Given the description of an element on the screen output the (x, y) to click on. 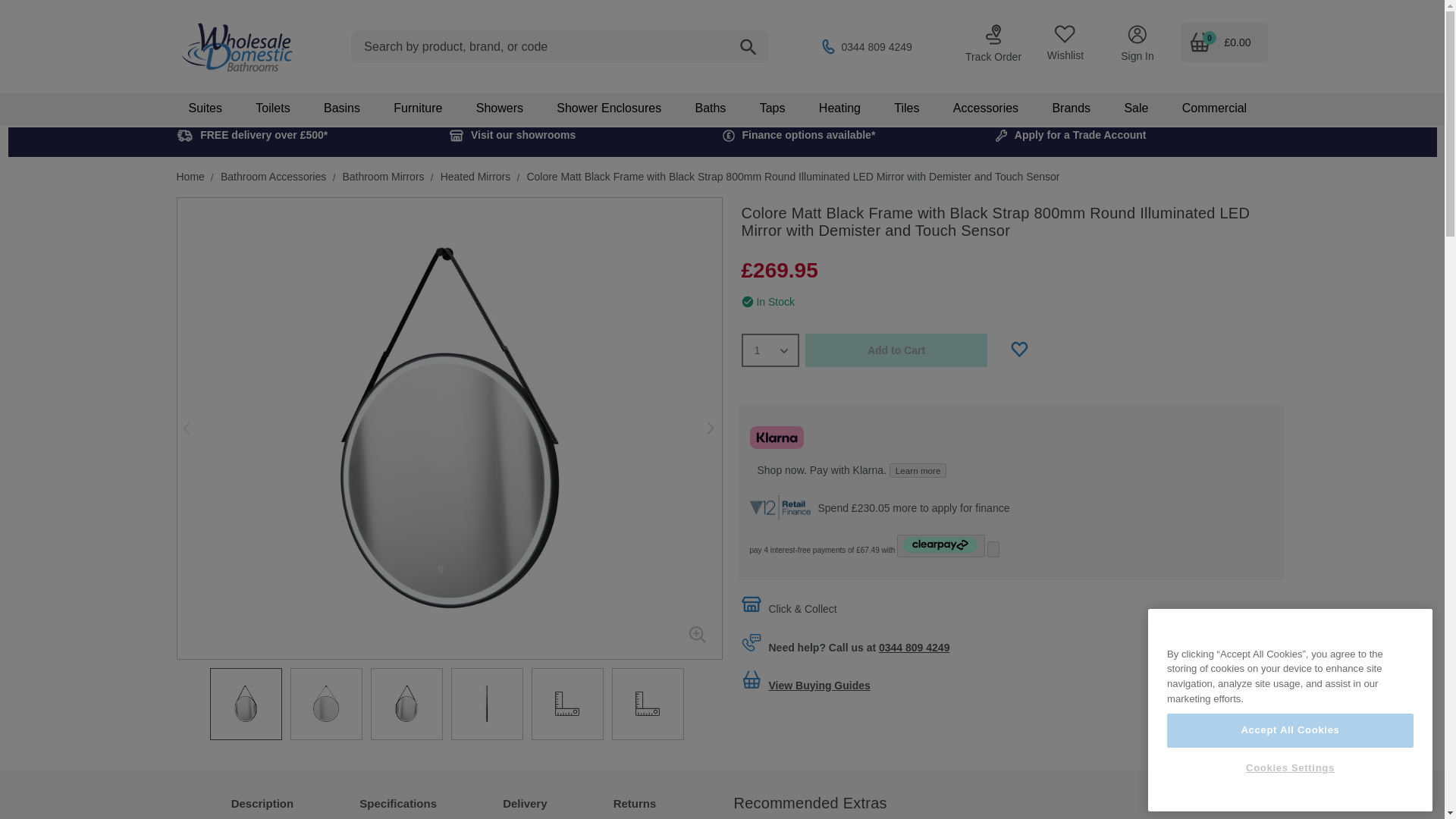
Add to Cart (896, 349)
